Given the description of an element on the screen output the (x, y) to click on. 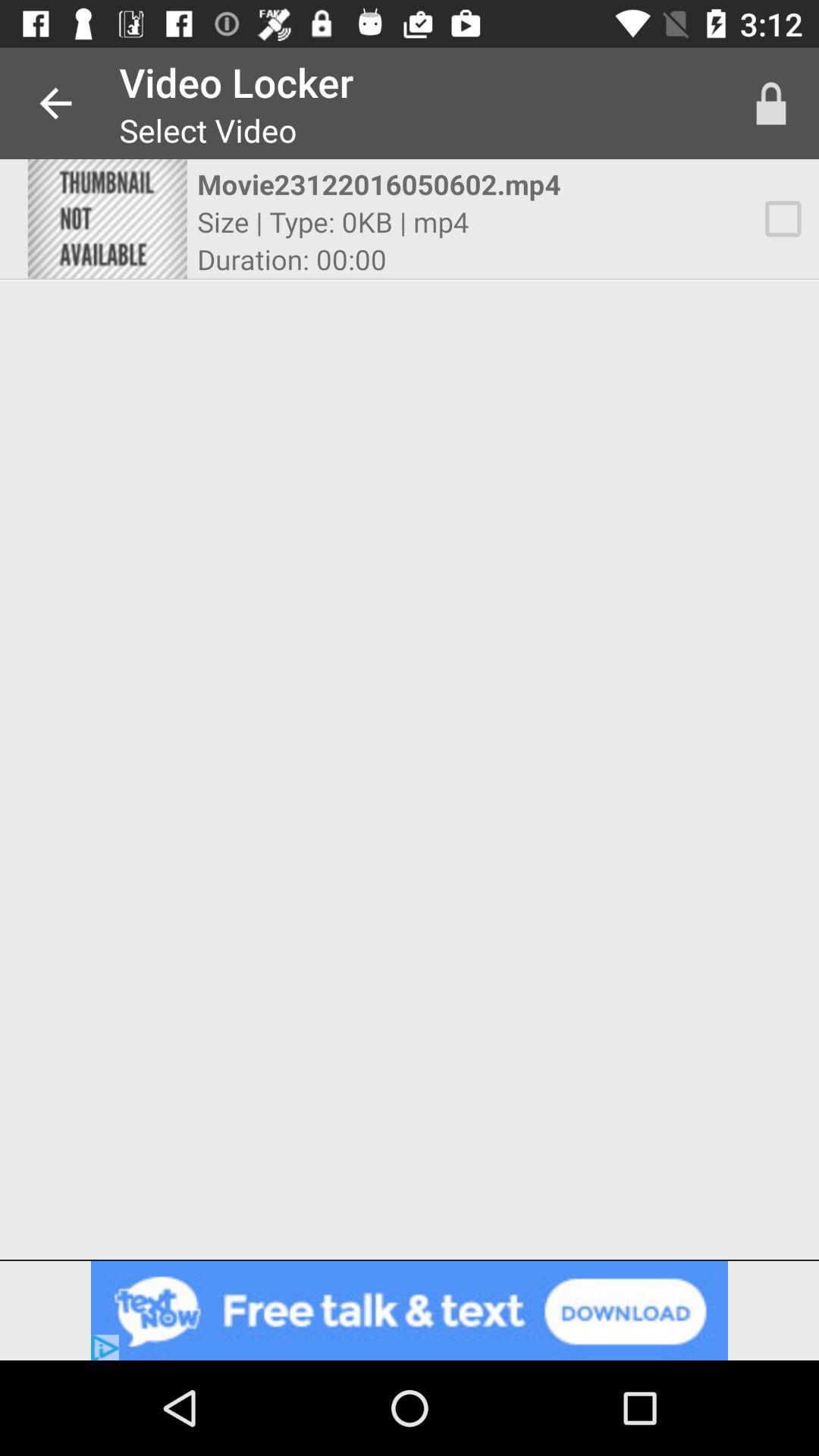
choose app next to video locker app (55, 103)
